Given the description of an element on the screen output the (x, y) to click on. 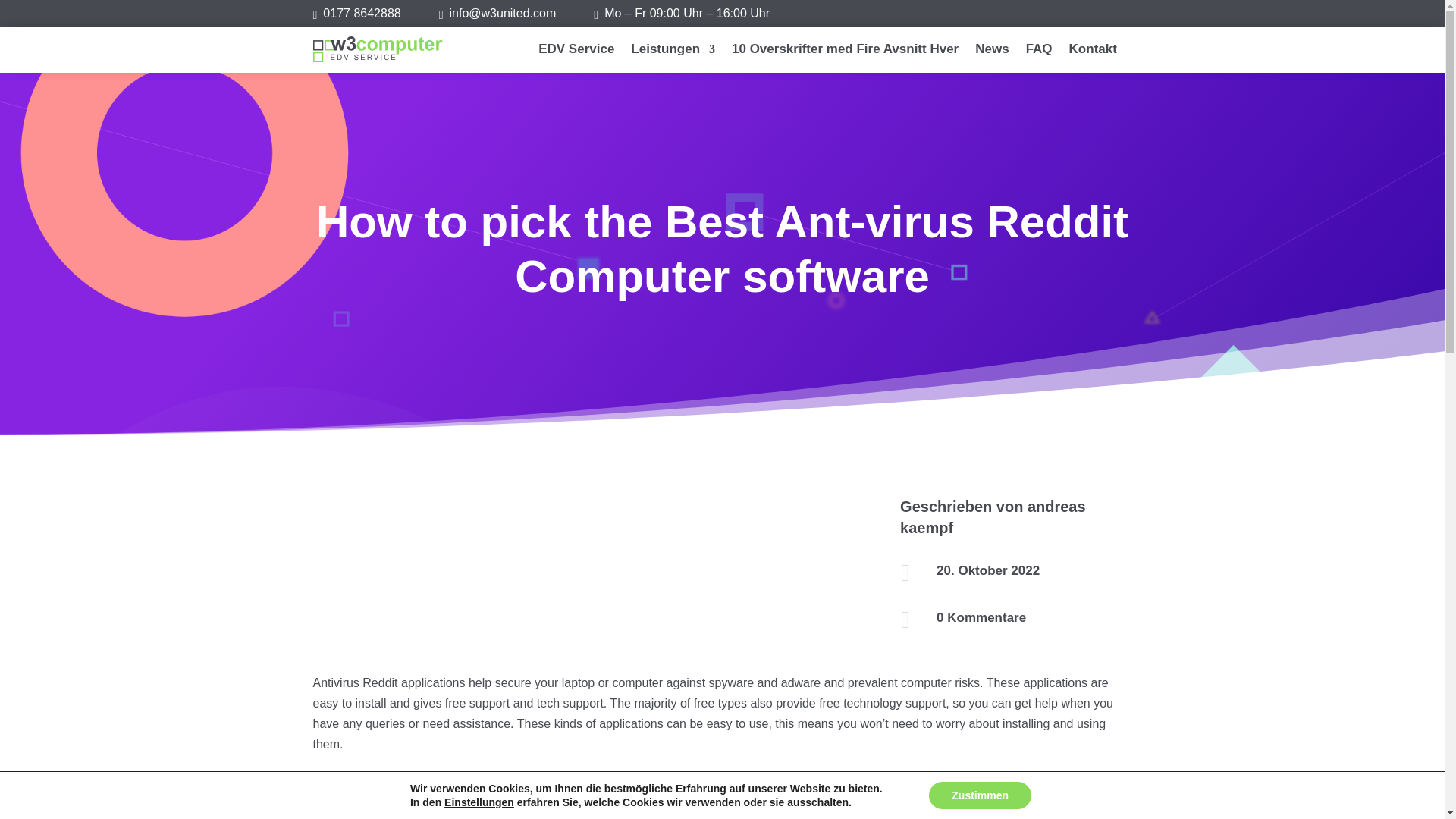
FAQ (1039, 52)
Kontakt (1092, 52)
w3united Media Consulting (361, 12)
w3computer EDV Service Koblenz (377, 49)
News (992, 52)
Leistungen (672, 52)
EDV Service (576, 52)
w3united (502, 12)
10 Overskrifter med Fire Avsnitt Hver (845, 52)
0177 8642888 (361, 12)
